Given the description of an element on the screen output the (x, y) to click on. 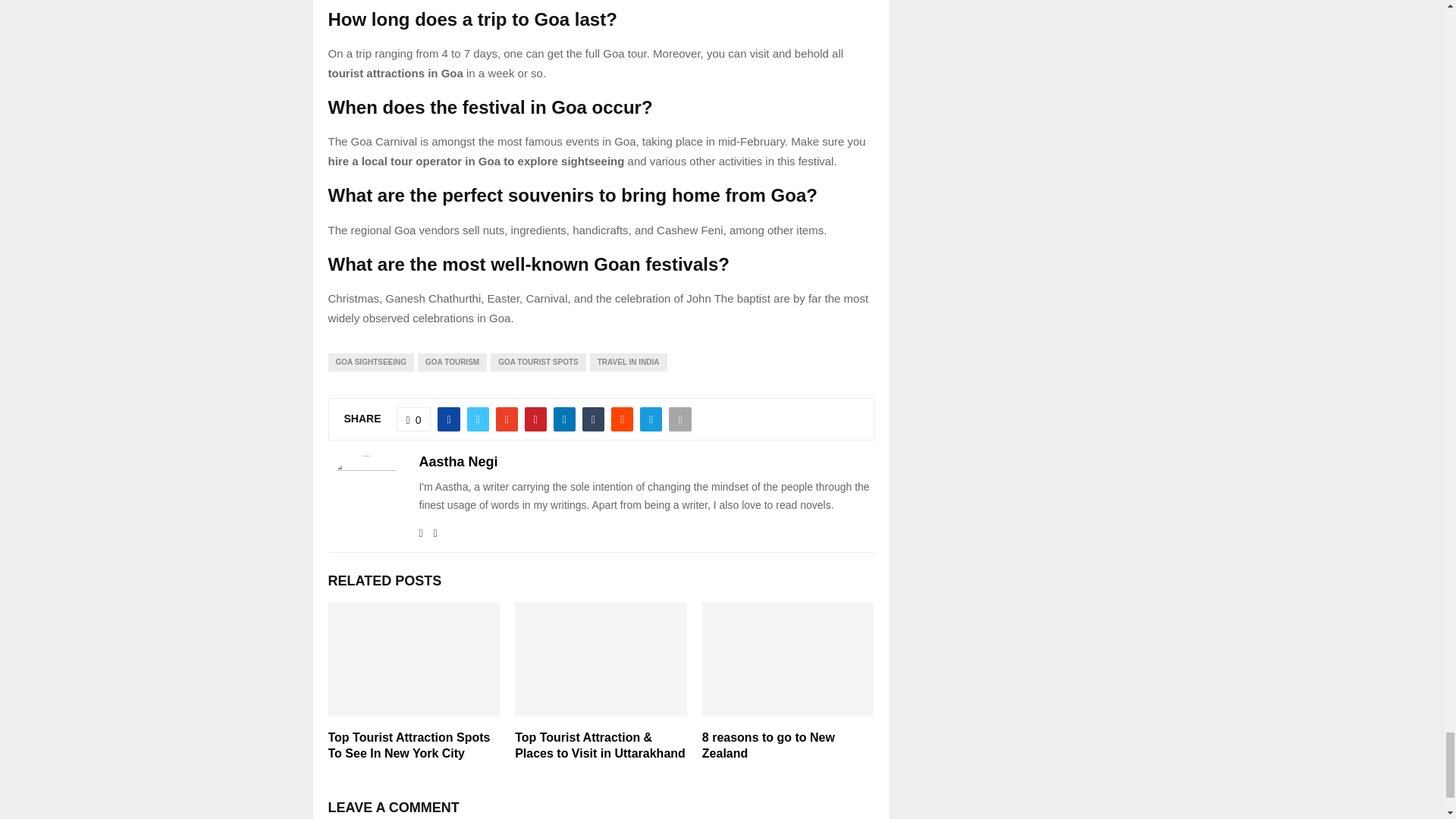
Like (413, 419)
TRAVEL IN INDIA (627, 361)
0 (413, 419)
GOA SIGHTSEEING (370, 361)
GOA TOURISM (451, 361)
GOA TOURIST SPOTS (538, 361)
